Given the description of an element on the screen output the (x, y) to click on. 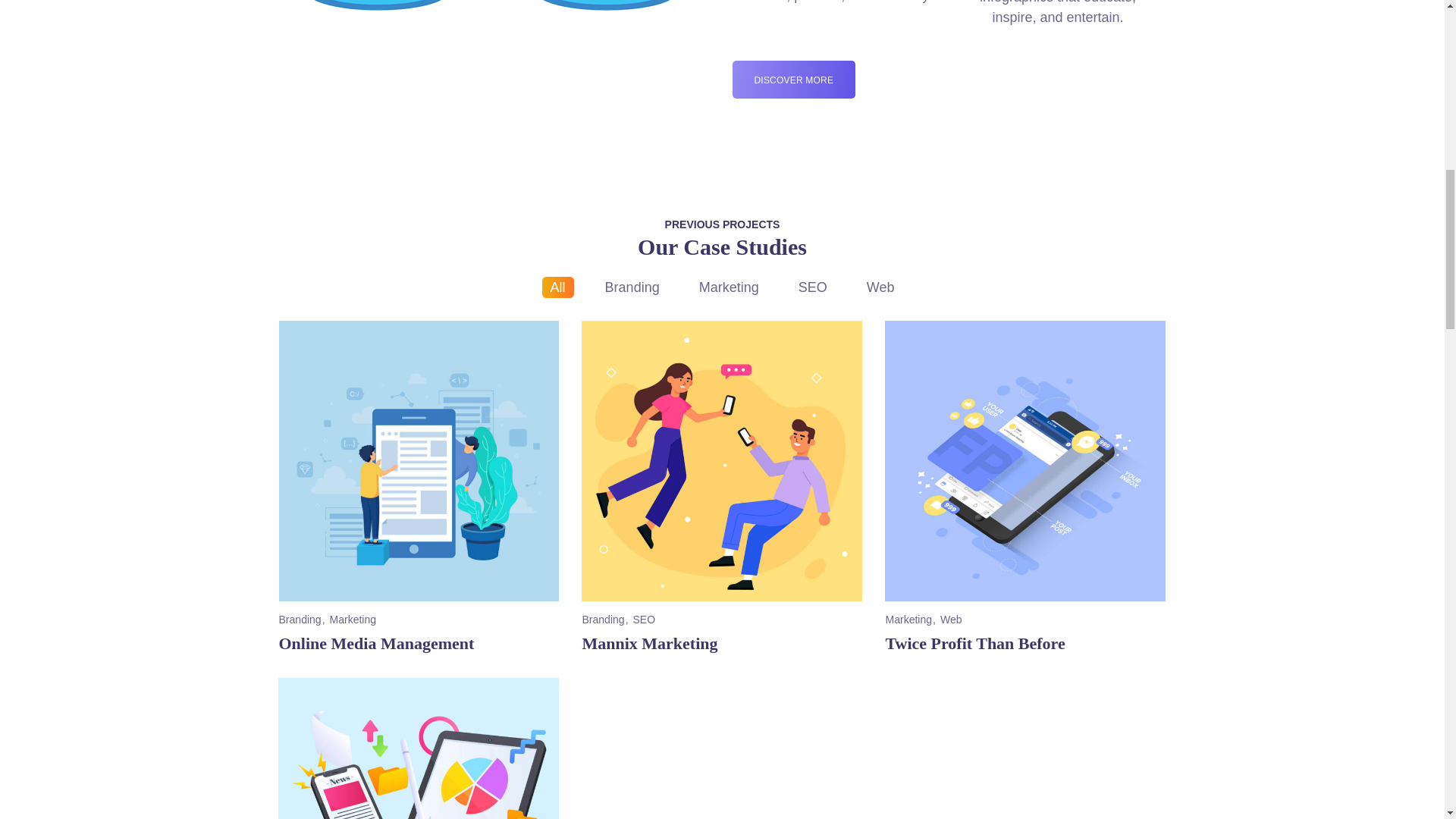
DISCOVER MORE (419, 748)
Branding (793, 79)
Online-Media-Management (632, 287)
SEO-Optimization (419, 461)
All (419, 748)
Mannix-Marketing (557, 287)
Twice-Profit-Than-Before (720, 461)
SEO (1025, 461)
Marketing (812, 287)
